Given the description of an element on the screen output the (x, y) to click on. 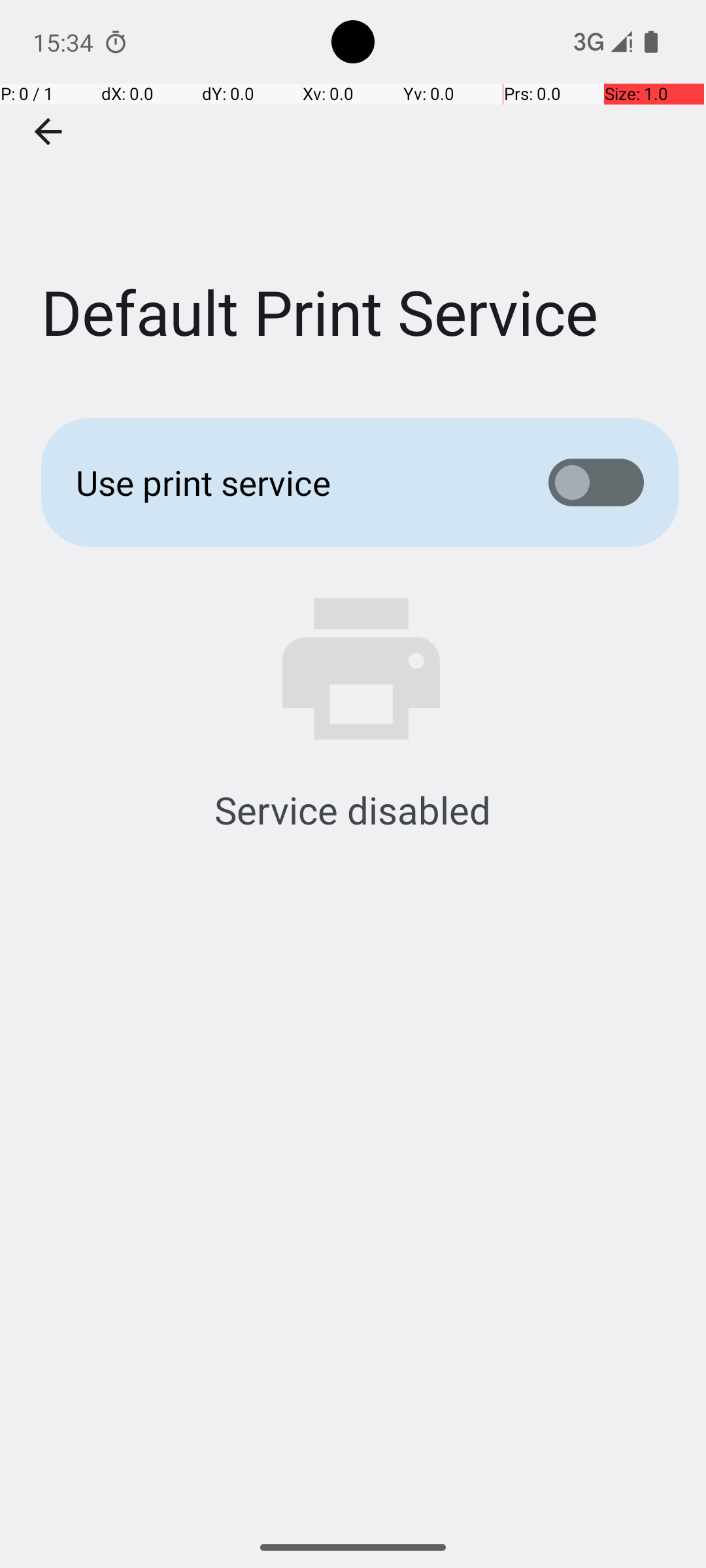
Default Print Service Element type: android.widget.FrameLayout (353, 195)
Service disabled Element type: android.widget.TextView (352, 809)
Use print service Element type: android.widget.TextView (291, 482)
